Given the description of an element on the screen output the (x, y) to click on. 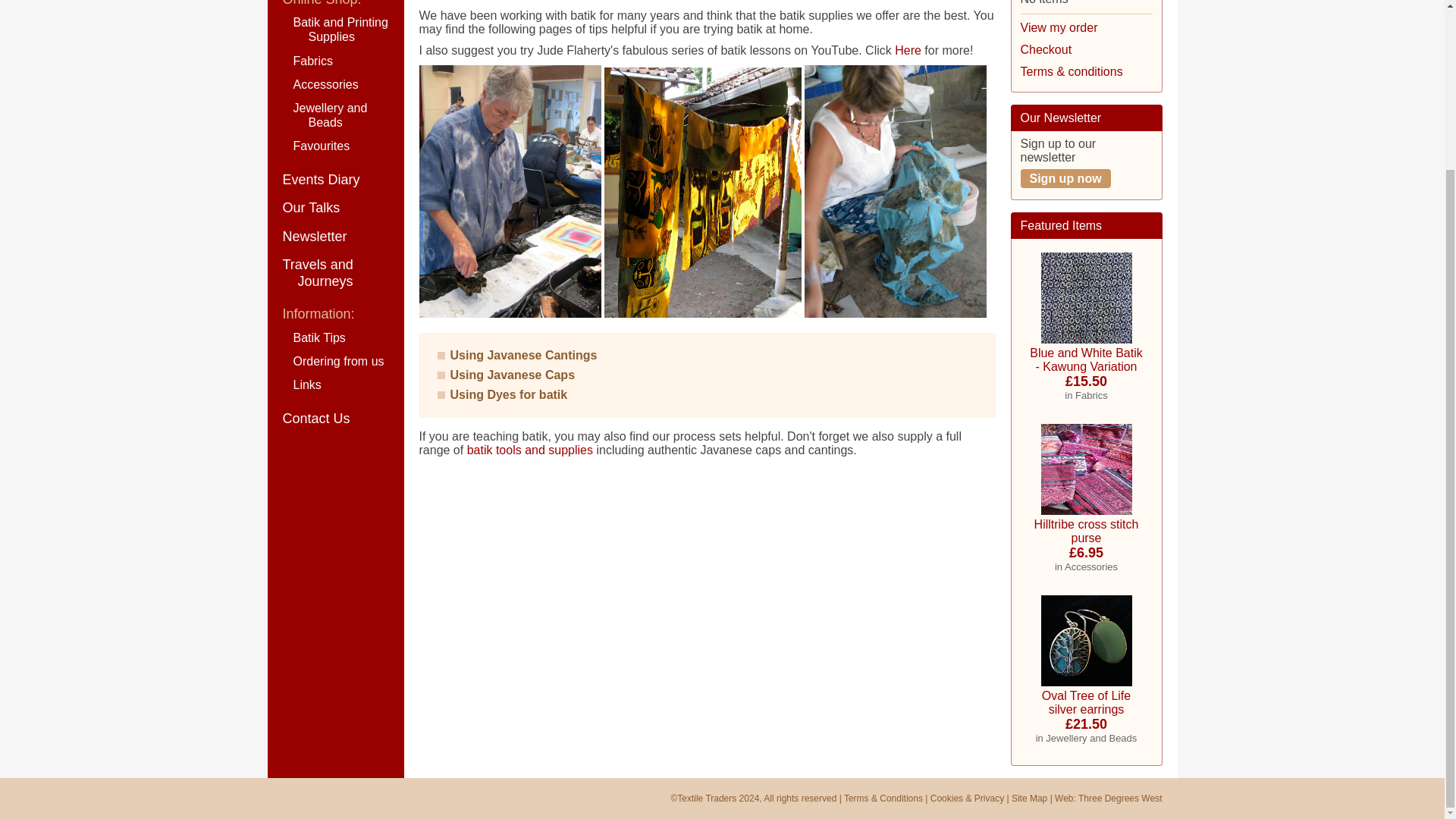
Here (908, 50)
Events Diary (334, 180)
Jewellery and Beads (334, 115)
Sign up now (1065, 178)
Newsletter (334, 236)
Ordering from us (334, 361)
Accessories (334, 84)
Batik and Printing Supplies (334, 29)
Oval Tree of Life silver earrings (1086, 640)
Contact Us (334, 419)
View my order (1058, 27)
Fabrics (334, 60)
Favourites (334, 146)
Using Dyes for batik (508, 394)
Checkout (1045, 49)
